Given the description of an element on the screen output the (x, y) to click on. 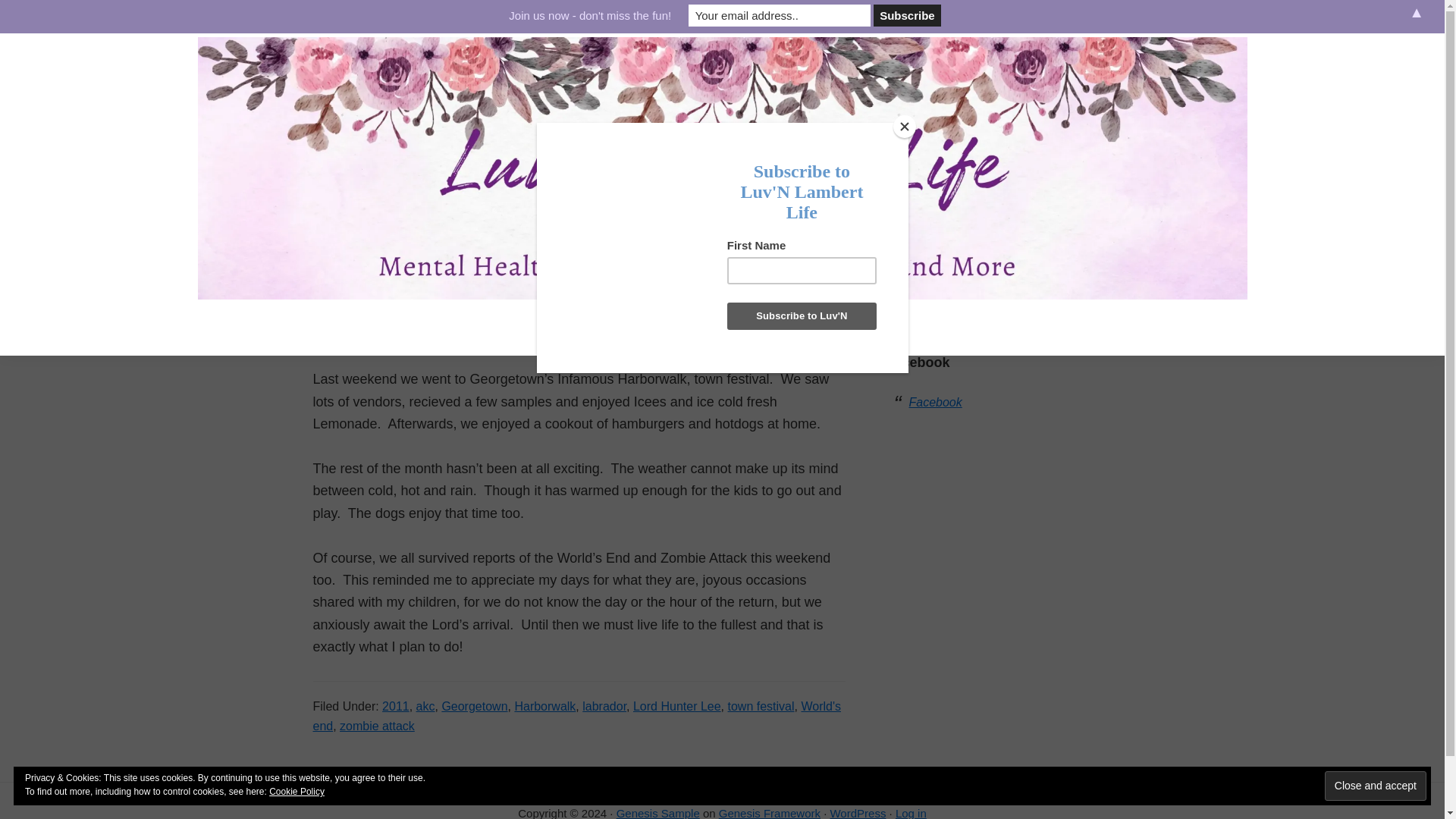
WordPress (857, 812)
May Update 2011 (402, 155)
Cookie Policy (296, 791)
Subscribe (907, 15)
2011 (395, 706)
Luv'N Lambert Life (226, 321)
Close and accept (1375, 785)
Genesis Sample (657, 812)
Contact (836, 328)
Genesis Framework (770, 812)
Close and accept (1375, 785)
Facebook (934, 401)
World's end (576, 716)
Dana (419, 186)
akc (425, 706)
